Given the description of an element on the screen output the (x, y) to click on. 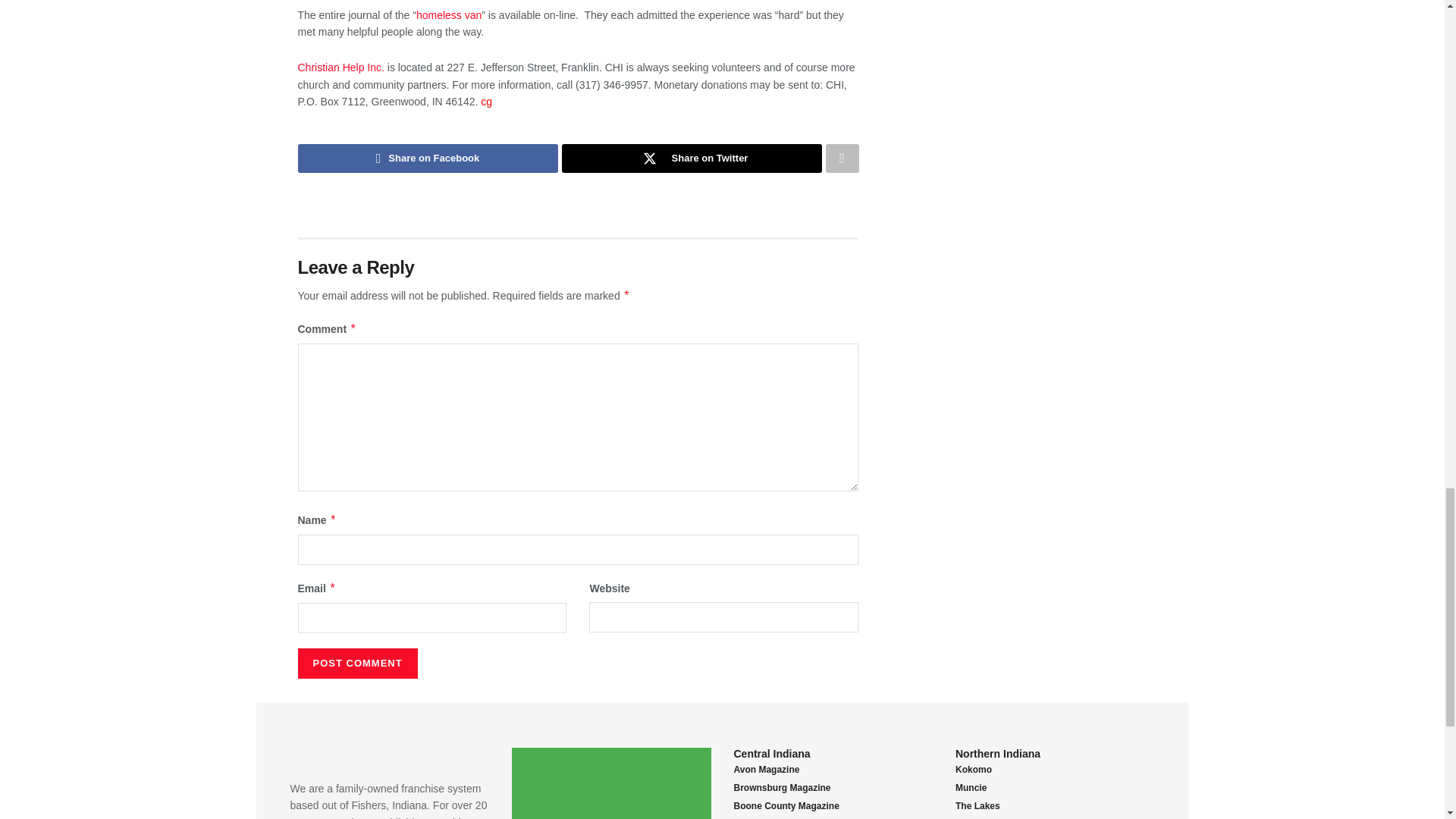
Post Comment (356, 663)
